Given the description of an element on the screen output the (x, y) to click on. 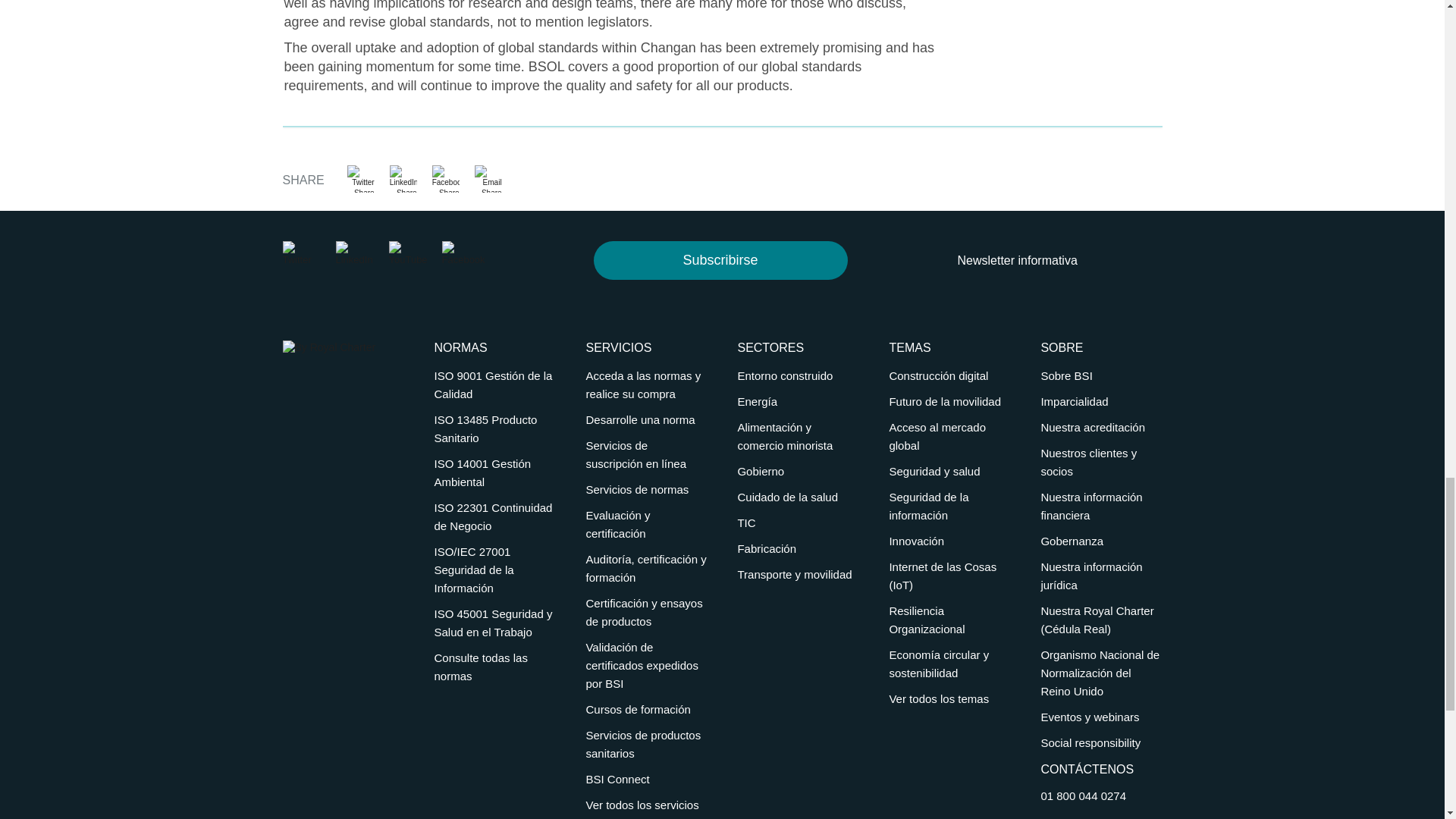
Subscribirse (719, 260)
